Given the description of an element on the screen output the (x, y) to click on. 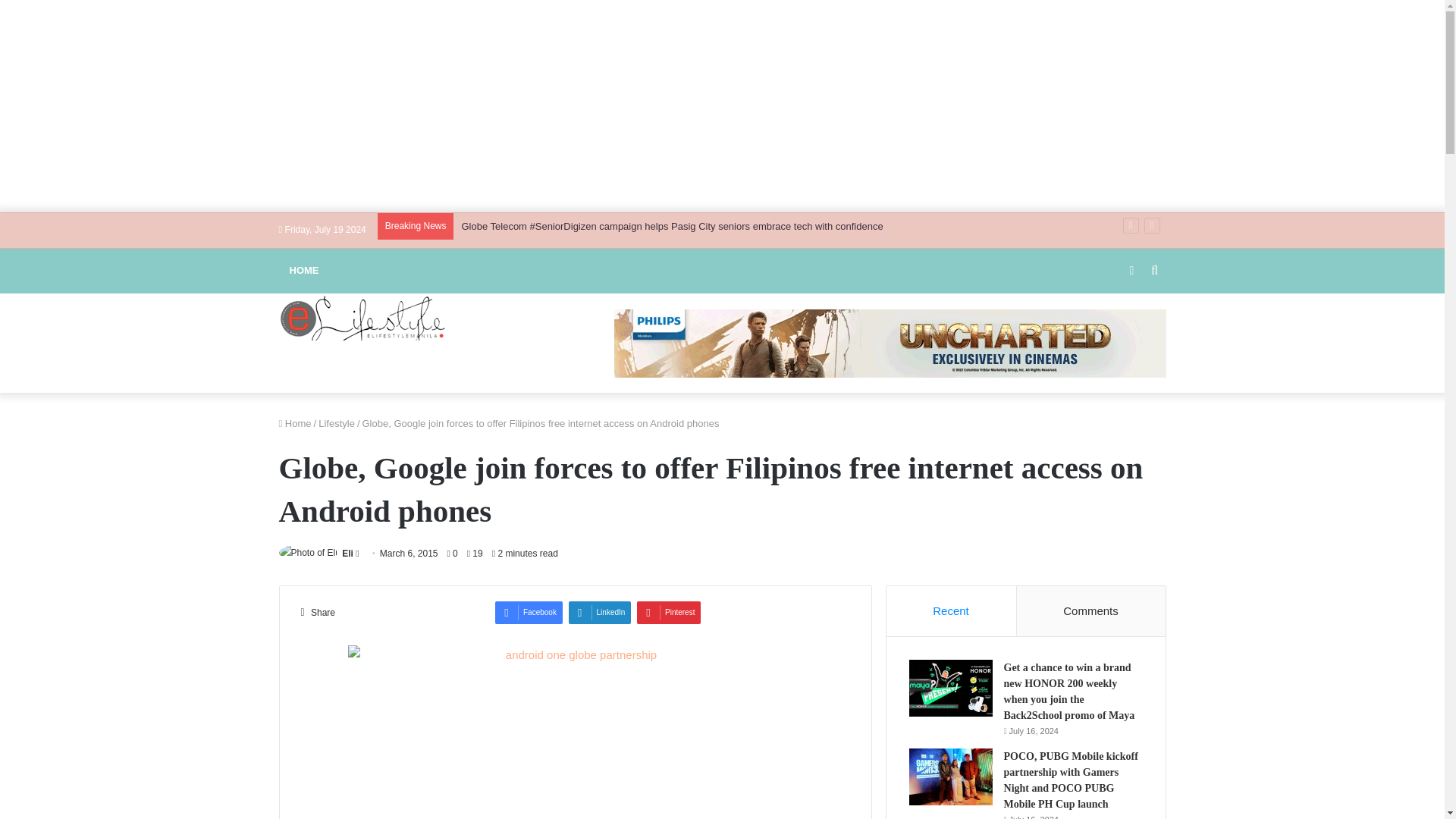
Eli (347, 552)
Search for (1154, 269)
Pinterest (668, 612)
Facebook (528, 612)
LinkedIn (600, 612)
HOME (304, 269)
Eli (347, 552)
Random Article (1131, 269)
Facebook (528, 612)
Pinterest (668, 612)
Home (295, 422)
LinkedIn (600, 612)
Random Article (1131, 269)
